Given the description of an element on the screen output the (x, y) to click on. 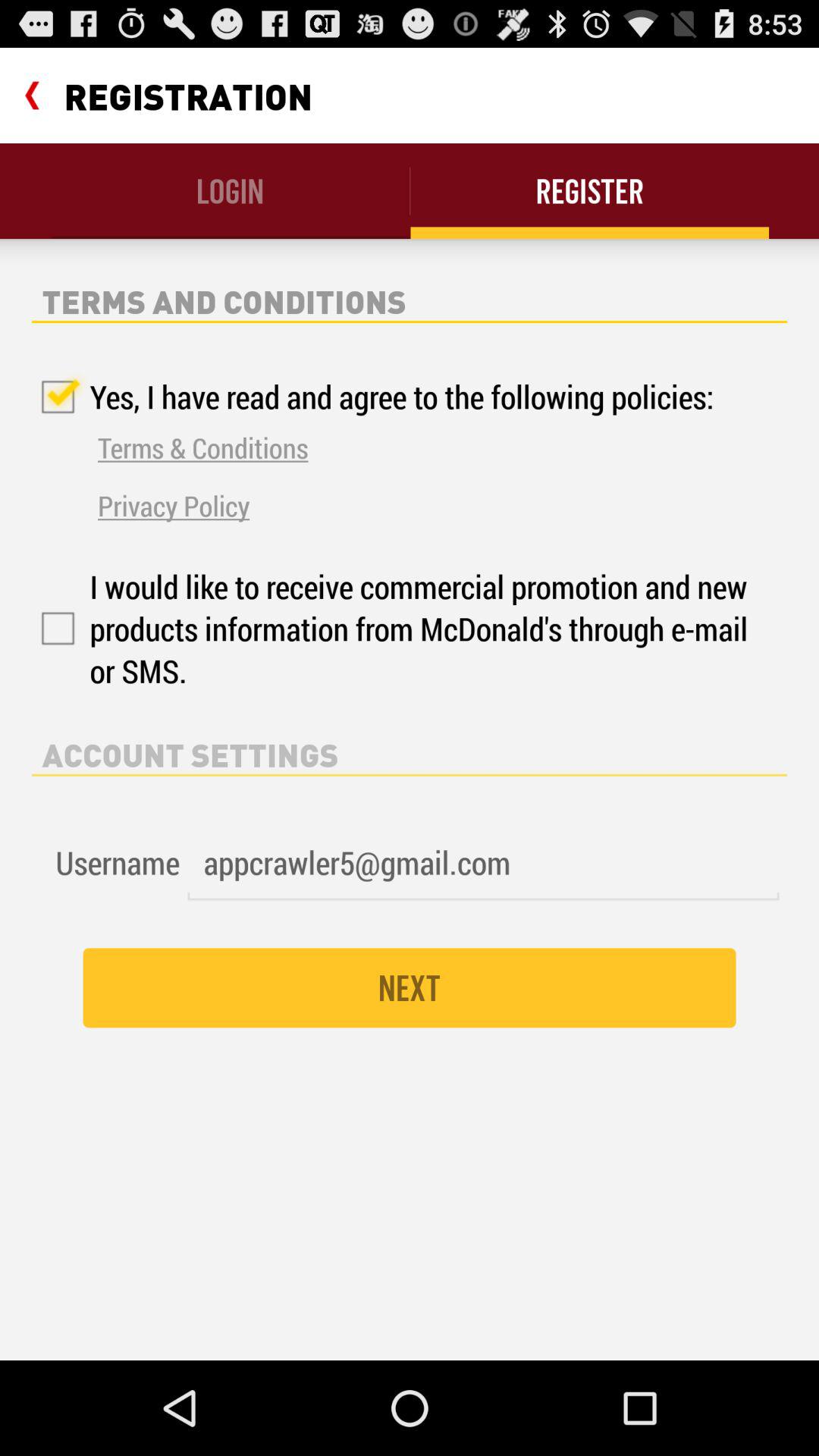
flip to next icon (409, 987)
